Given the description of an element on the screen output the (x, y) to click on. 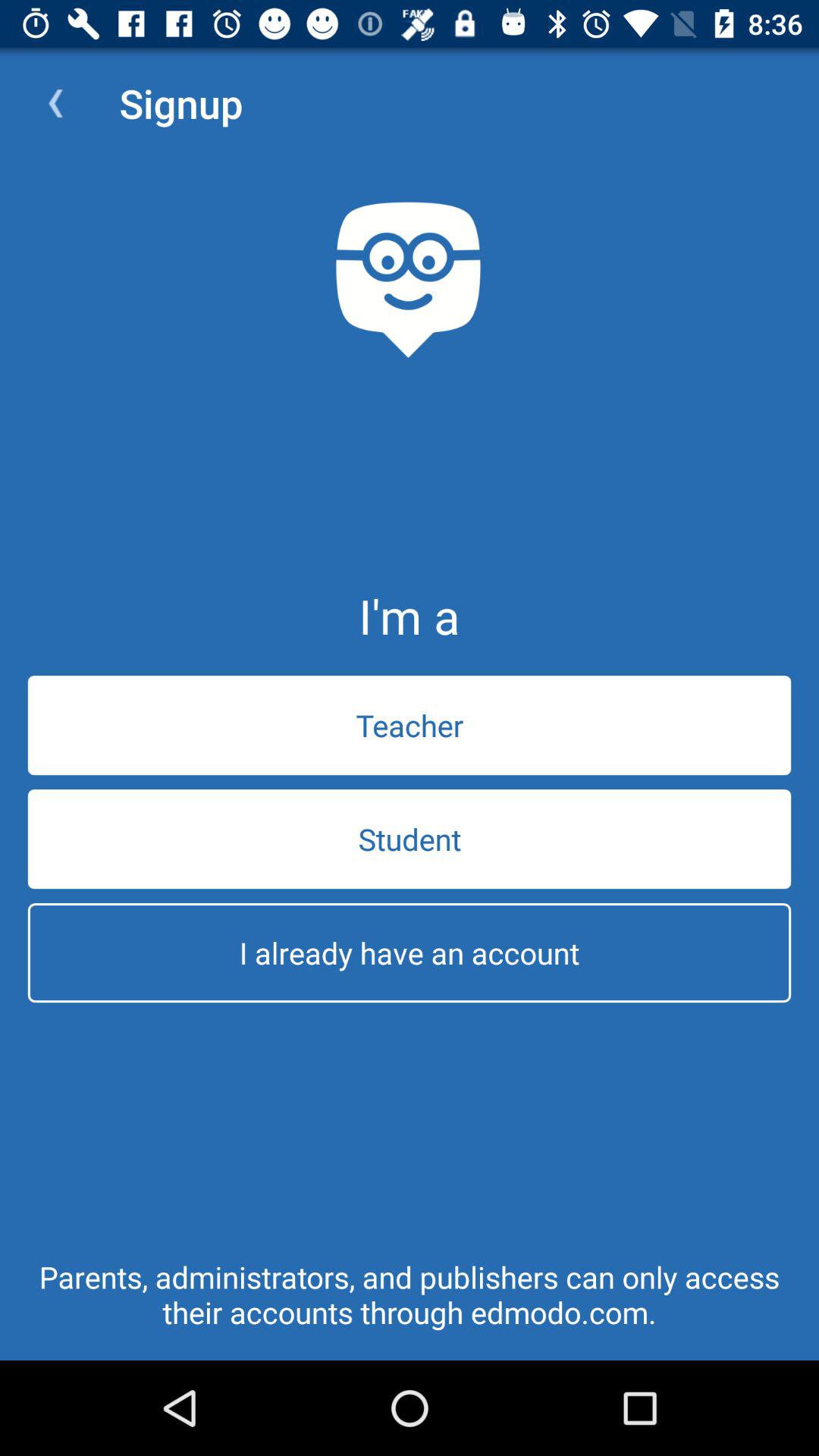
select item below student item (409, 952)
